Given the description of an element on the screen output the (x, y) to click on. 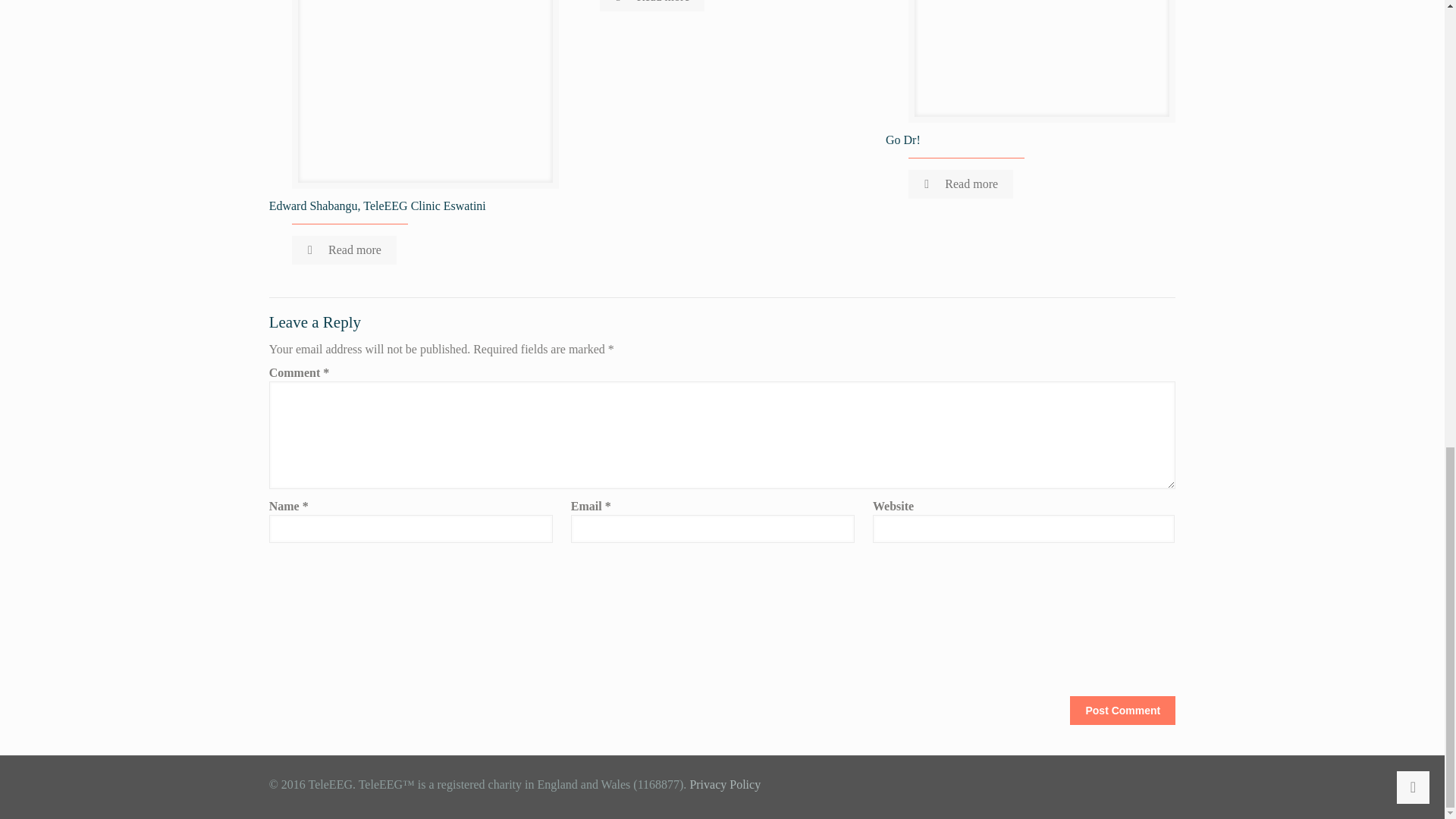
Read more (651, 5)
Read more (344, 249)
Post Comment (1122, 710)
Read more (960, 184)
Edward Shabangu, TeleEEG Clinic Eswatini (377, 205)
Go Dr! (902, 139)
